Given the description of an element on the screen output the (x, y) to click on. 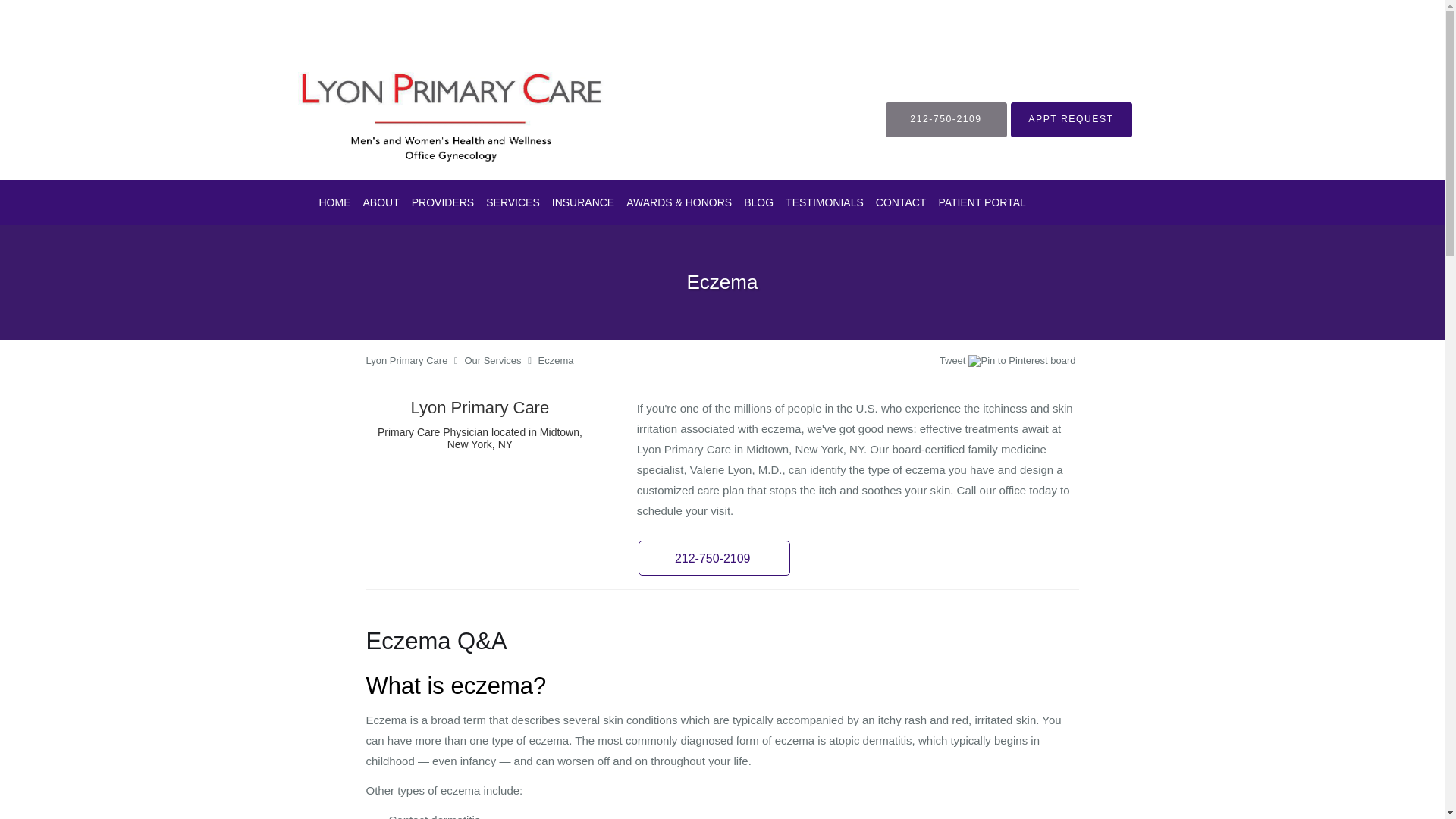
INSURANCE (583, 202)
Lyon Primary Care (405, 360)
ABOUT (380, 202)
Our Services (492, 360)
SERVICES (513, 202)
212-750-2109 (946, 118)
212-750-2109 (714, 557)
APPT REQUEST (1070, 118)
PROVIDERS (443, 202)
PATIENT PORTAL (980, 202)
